Given the description of an element on the screen output the (x, y) to click on. 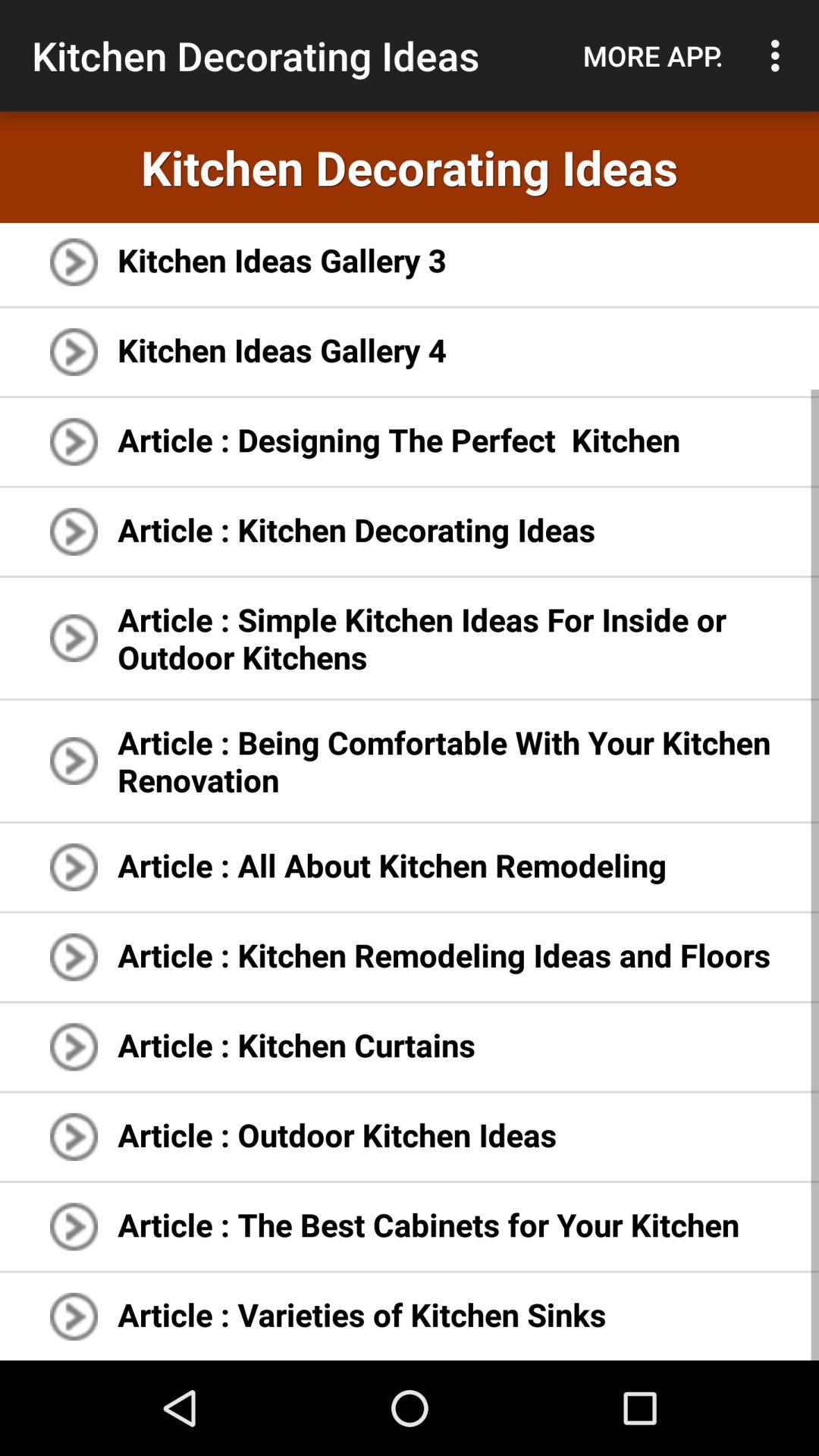
tap the item next to the kitchen decorating ideas item (653, 55)
